Given the description of an element on the screen output the (x, y) to click on. 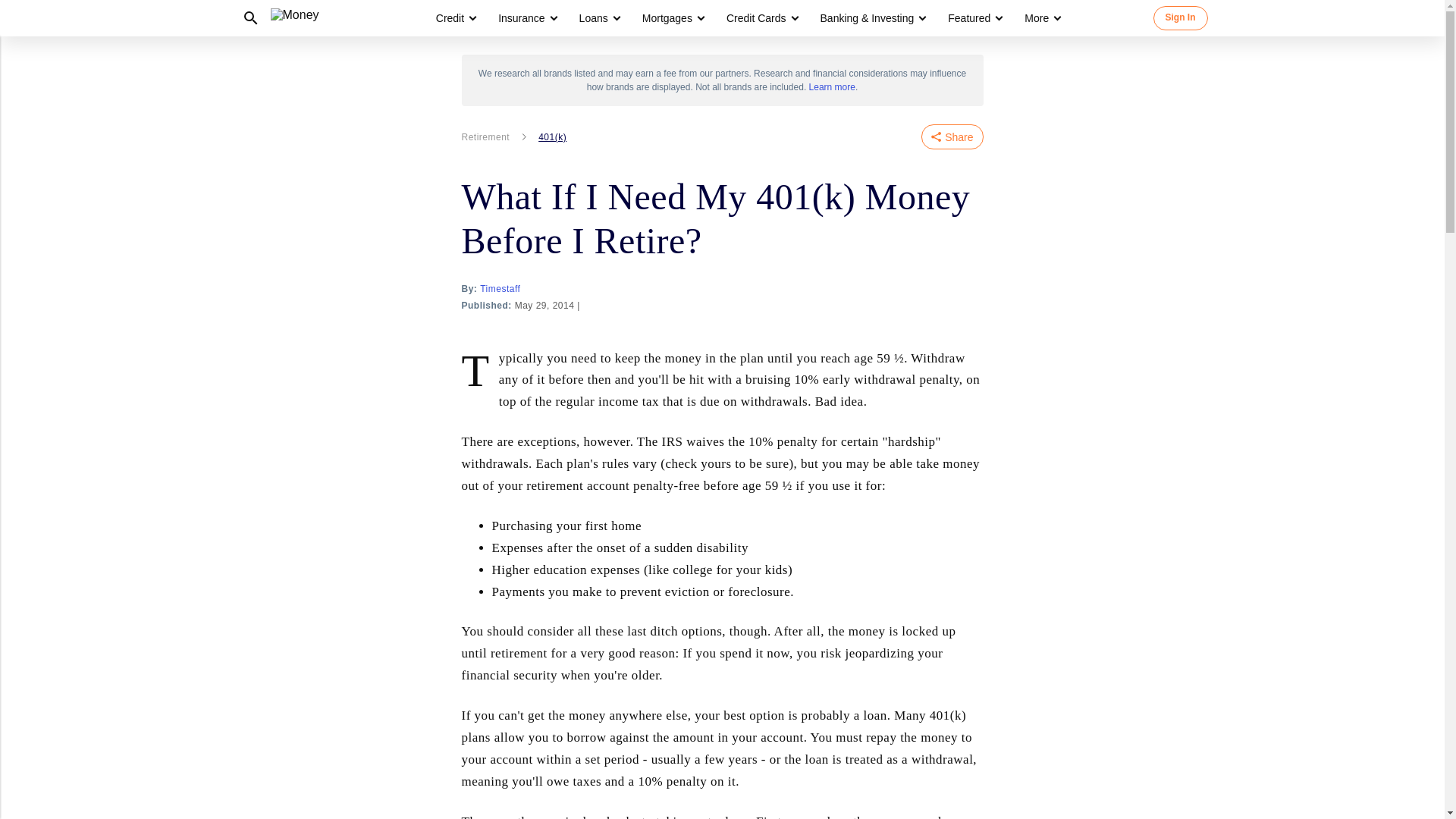
Credit (455, 18)
Mortgages (672, 18)
Credit Cards (761, 18)
Loans (593, 18)
Credit Cards (756, 18)
Insurance (526, 18)
Insurance (520, 18)
Loans (598, 18)
Mortgages (667, 18)
Credit (449, 18)
